Given the description of an element on the screen output the (x, y) to click on. 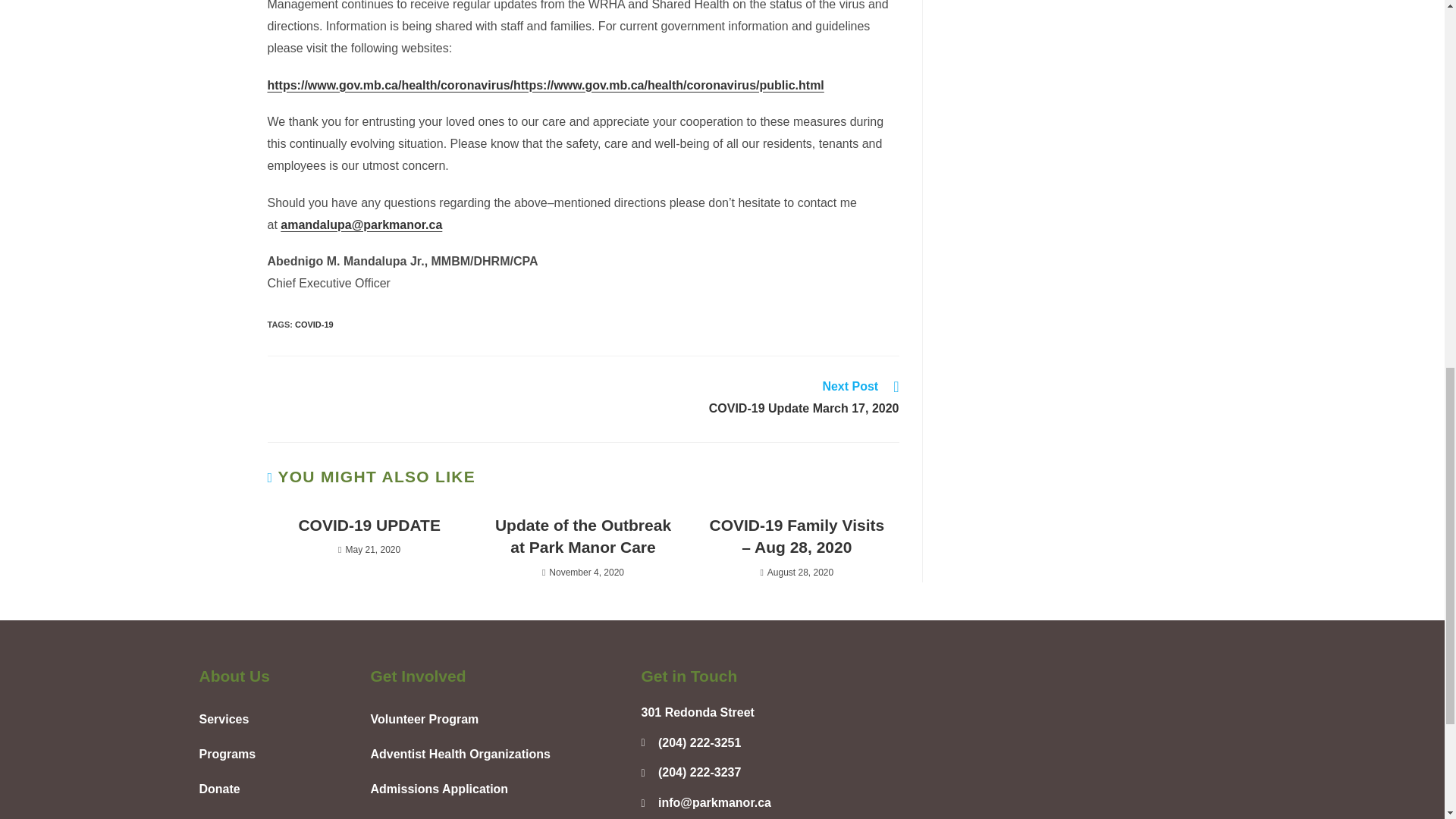
Update of the Outbreak at Park Manor Care (582, 536)
COVID-19 UPDATE (368, 525)
Park Manor Care, 301 Redonda Street, Winnipeg, Manitoba (1054, 742)
